Given the description of an element on the screen output the (x, y) to click on. 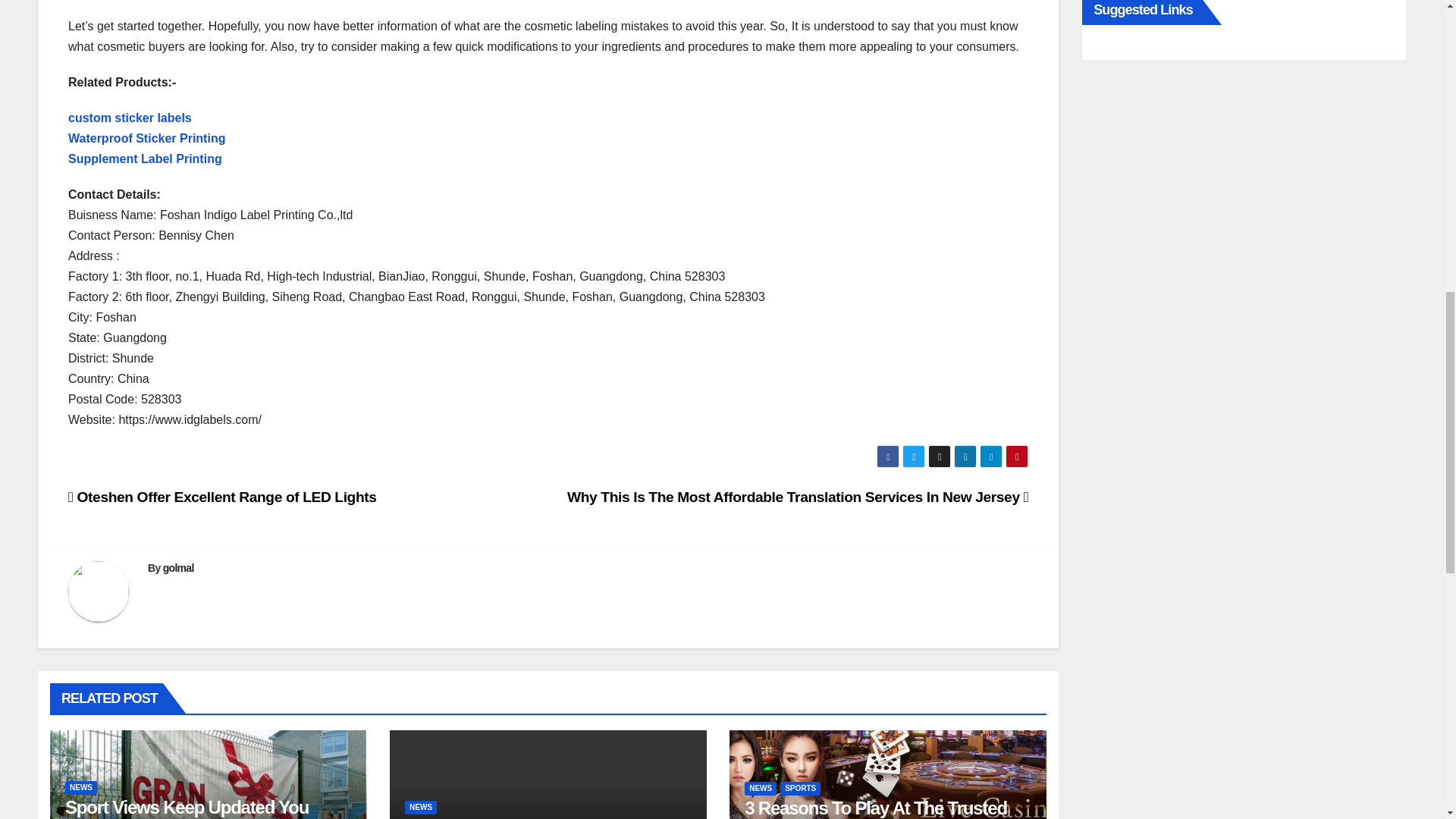
Oteshen Offer Excellent Range of LED Lights (222, 496)
NEWS (81, 787)
custom sticker labels (130, 117)
golmal (178, 567)
NEWS (420, 807)
Waterproof Sticker Printing (146, 137)
Supplement Label Printing (145, 158)
